Given the description of an element on the screen output the (x, y) to click on. 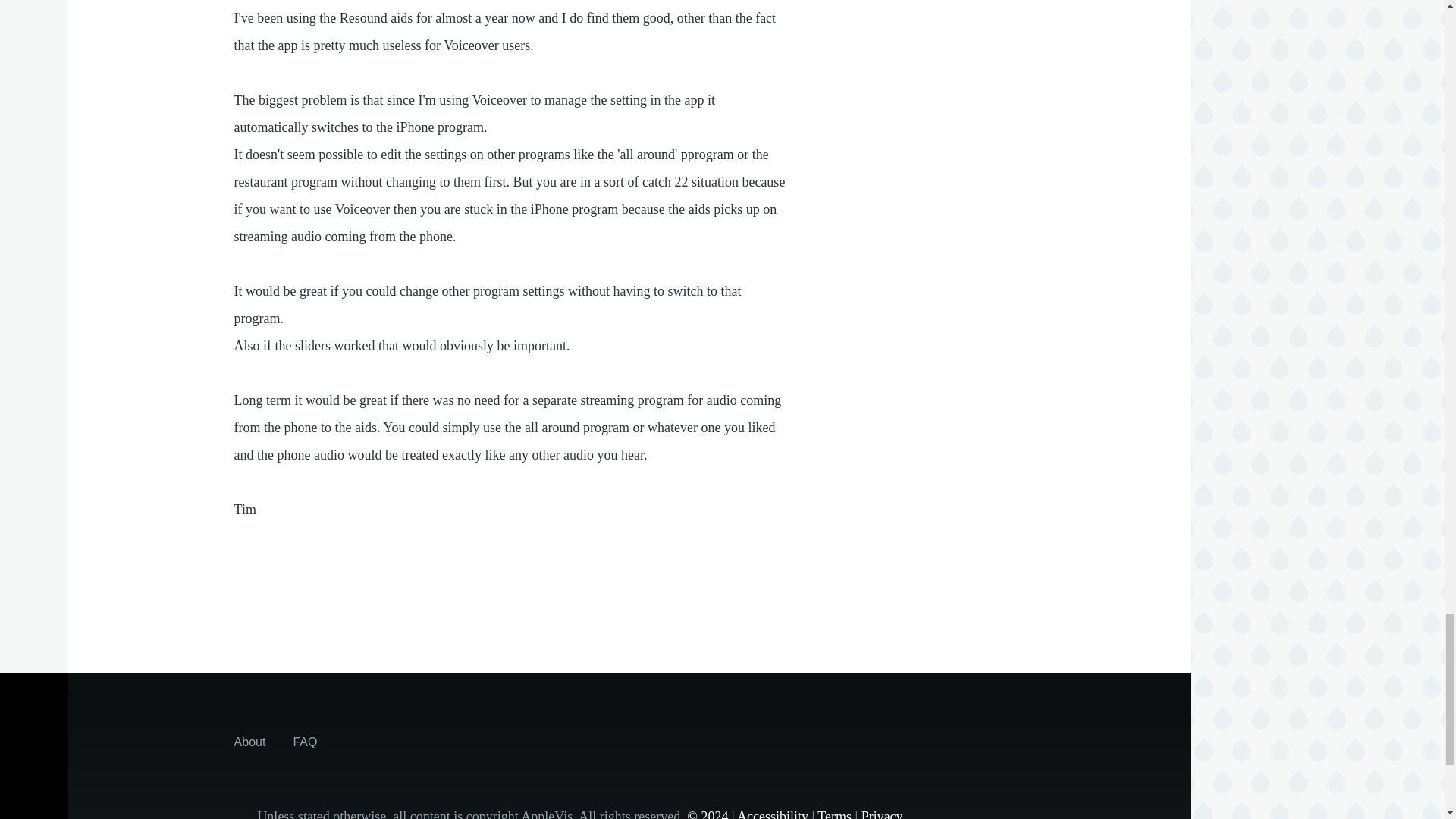
Accessibility (772, 814)
About (250, 741)
FAQ (304, 741)
Terms (833, 814)
Answers to some frequently asked questions about AppleVis (304, 741)
Privacy (881, 814)
About (250, 741)
